Given the description of an element on the screen output the (x, y) to click on. 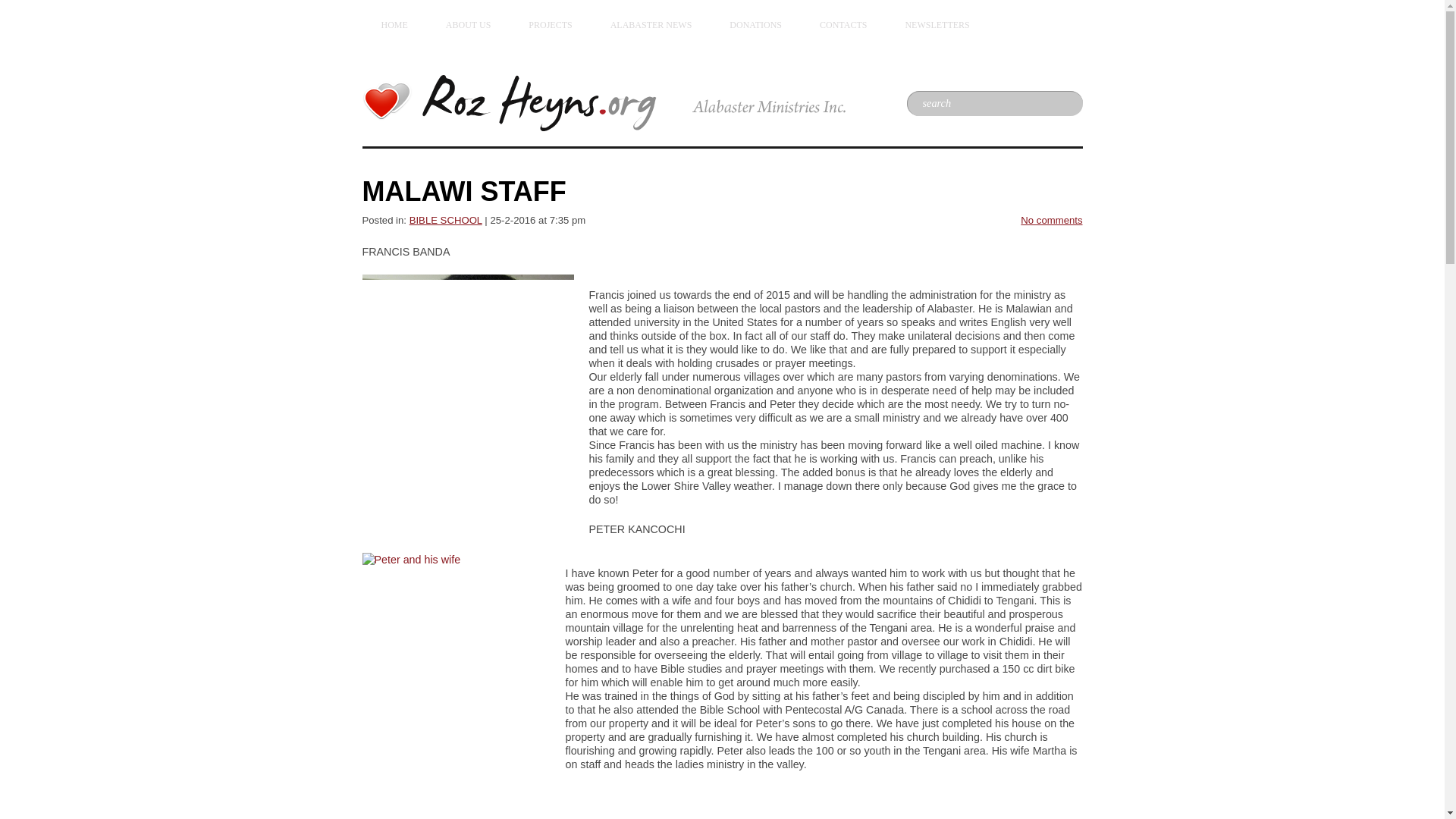
HOME (394, 25)
CONTACTS (842, 25)
PROJECTS (550, 25)
search (983, 103)
ABOUT US (467, 25)
NEWSLETTERS (936, 25)
ALABASTER NEWS (651, 25)
BIBLE SCHOOL (445, 220)
DONATIONS (755, 25)
No comments (1050, 220)
